Given the description of an element on the screen output the (x, y) to click on. 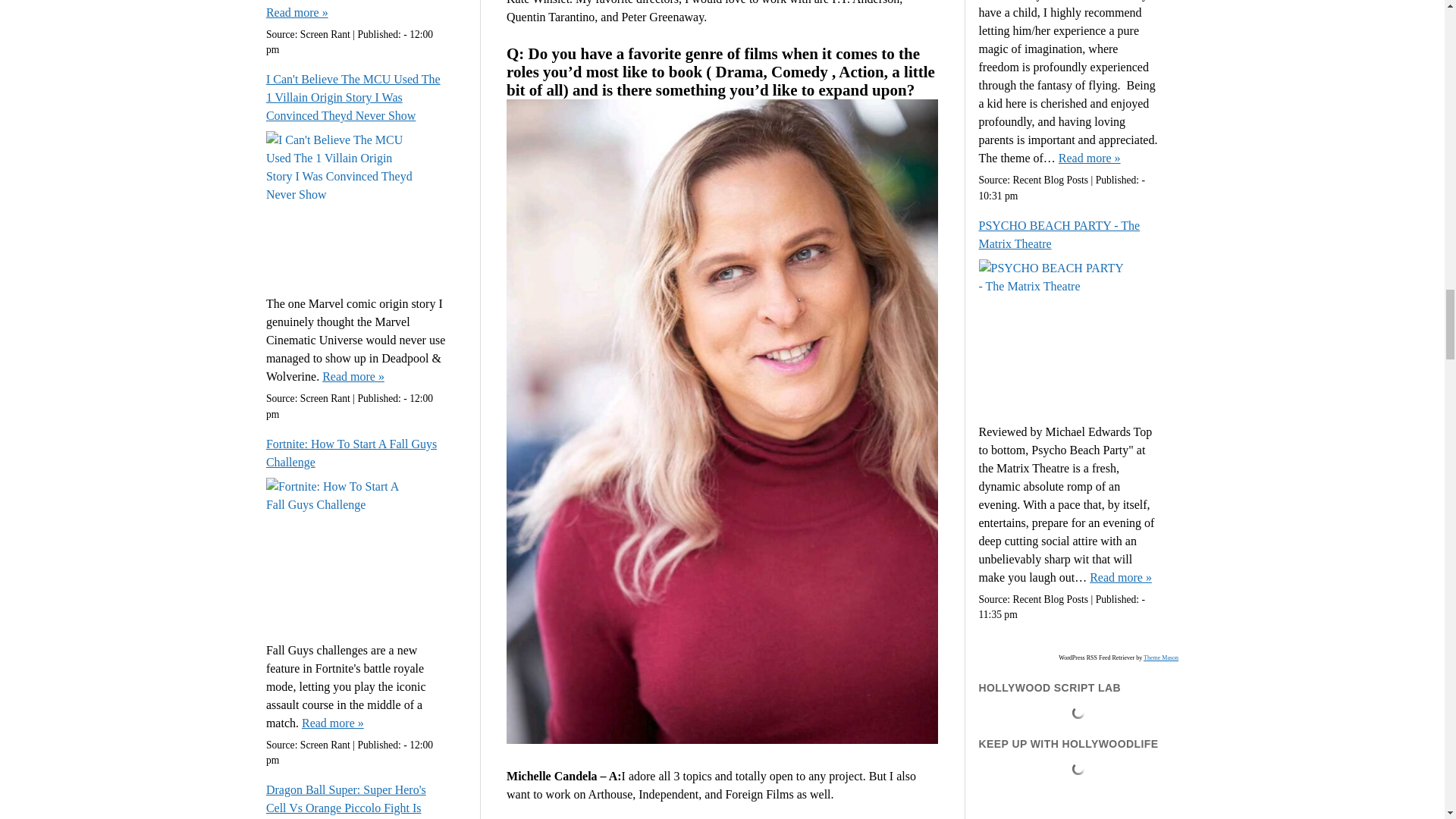
The World Of Silo Explained (297, 13)
Fortnite: How To Start A Fall Guys Challenge (357, 452)
